Given the description of an element on the screen output the (x, y) to click on. 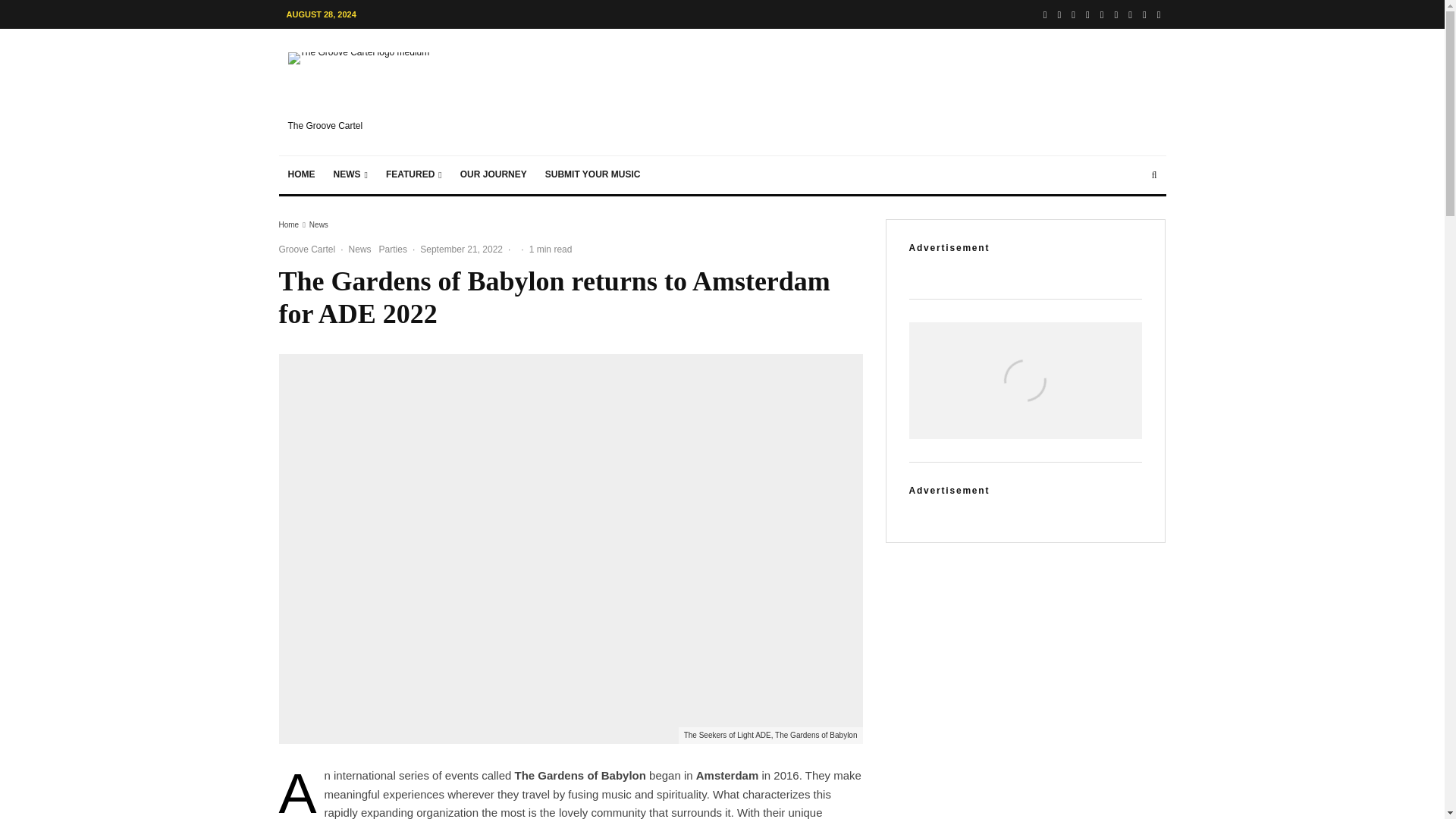
The Groove Cartel (371, 91)
OUR JOURNEY (493, 175)
FEATURED (414, 175)
HOME (301, 175)
NEWS (350, 175)
